Given the description of an element on the screen output the (x, y) to click on. 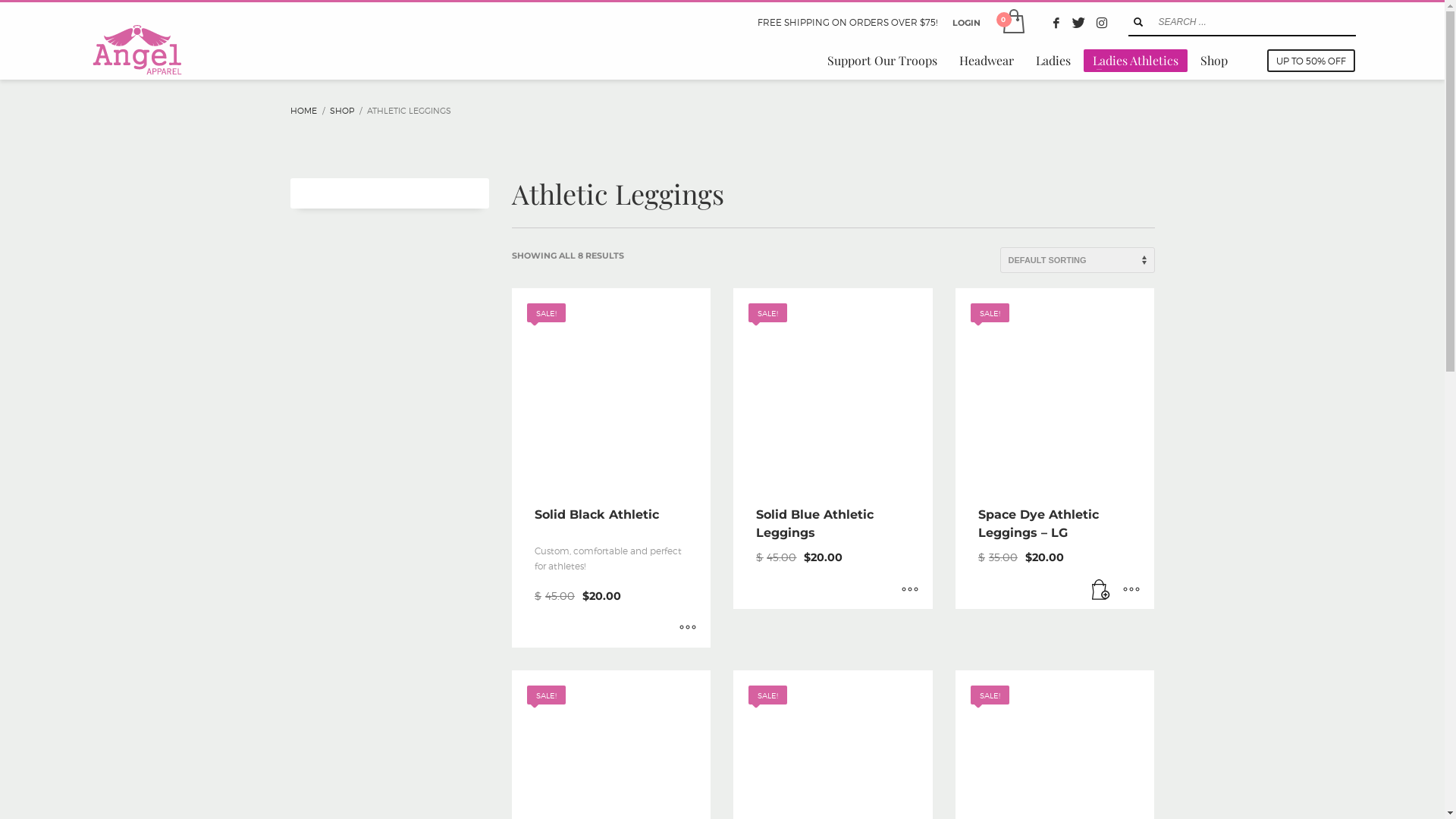
UP TO 50% OFF Element type: text (1311, 60)
Fashion with a Purpose Element type: hover (136, 49)
LOGIN Element type: text (966, 22)
MORE INFO Element type: hover (1131, 589)
Support Our Troops Element type: text (882, 60)
Twitter Element type: hover (1078, 22)
Ladies Element type: text (1052, 60)
Headwear Element type: text (986, 60)
View your shopping cart Element type: hover (1011, 22)
Ladies Athletics Element type: text (1135, 60)
Instagram Element type: hover (1101, 22)
SALE!
Solid Blue Athletic Leggings
$45.00 $20.00 Element type: text (832, 448)
Facebook Element type: hover (1055, 22)
Shop Element type: text (1213, 60)
HOME Element type: text (302, 110)
SHOP Element type: text (341, 110)
go Element type: text (1137, 21)
